Given the description of an element on the screen output the (x, y) to click on. 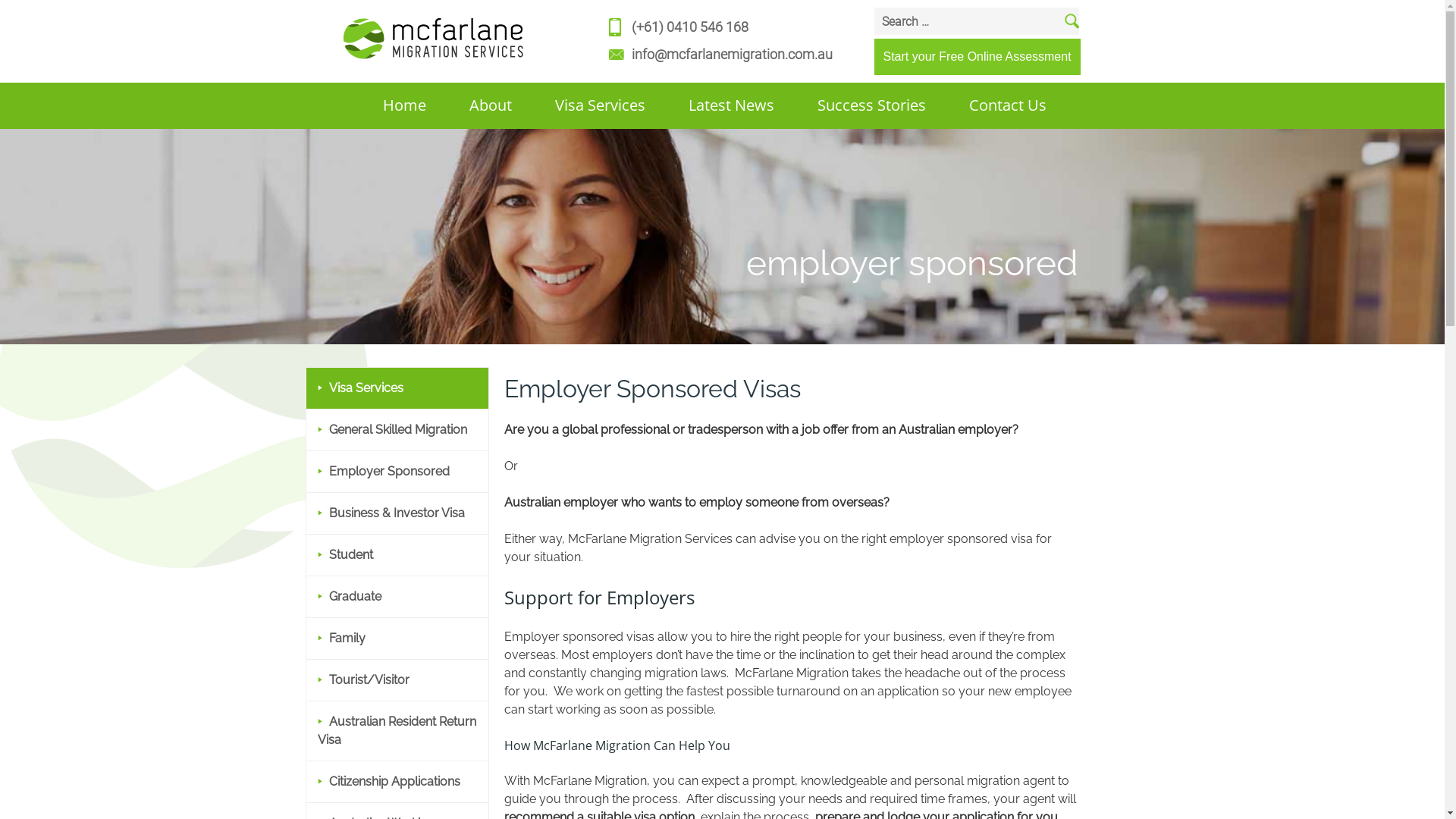
General Skilled Migration Element type: text (391, 429)
Visa Services Element type: text (359, 387)
Tourist/Visitor Element type: text (362, 679)
Visa Services Element type: text (578, 104)
Latest News Element type: text (709, 104)
Success Stories Element type: text (850, 104)
Home Element type: text (383, 104)
Search for: Element type: hover (975, 20)
Family Element type: text (340, 637)
Employer Sponsored Element type: text (382, 471)
About Element type: text (469, 104)
(+61) 0410 546 168 Element type: text (688, 26)
Start your Free Online Assessment Element type: text (976, 56)
Business & Investor Visa Element type: text (390, 512)
Contact Us Element type: text (985, 104)
Australian Resident Return Visa Element type: text (395, 730)
Student Element type: text (344, 554)
info@mcfarlanemigration.com.au Element type: text (730, 54)
Graduate Element type: text (348, 596)
Citizenship Applications Element type: text (387, 781)
